Given the description of an element on the screen output the (x, y) to click on. 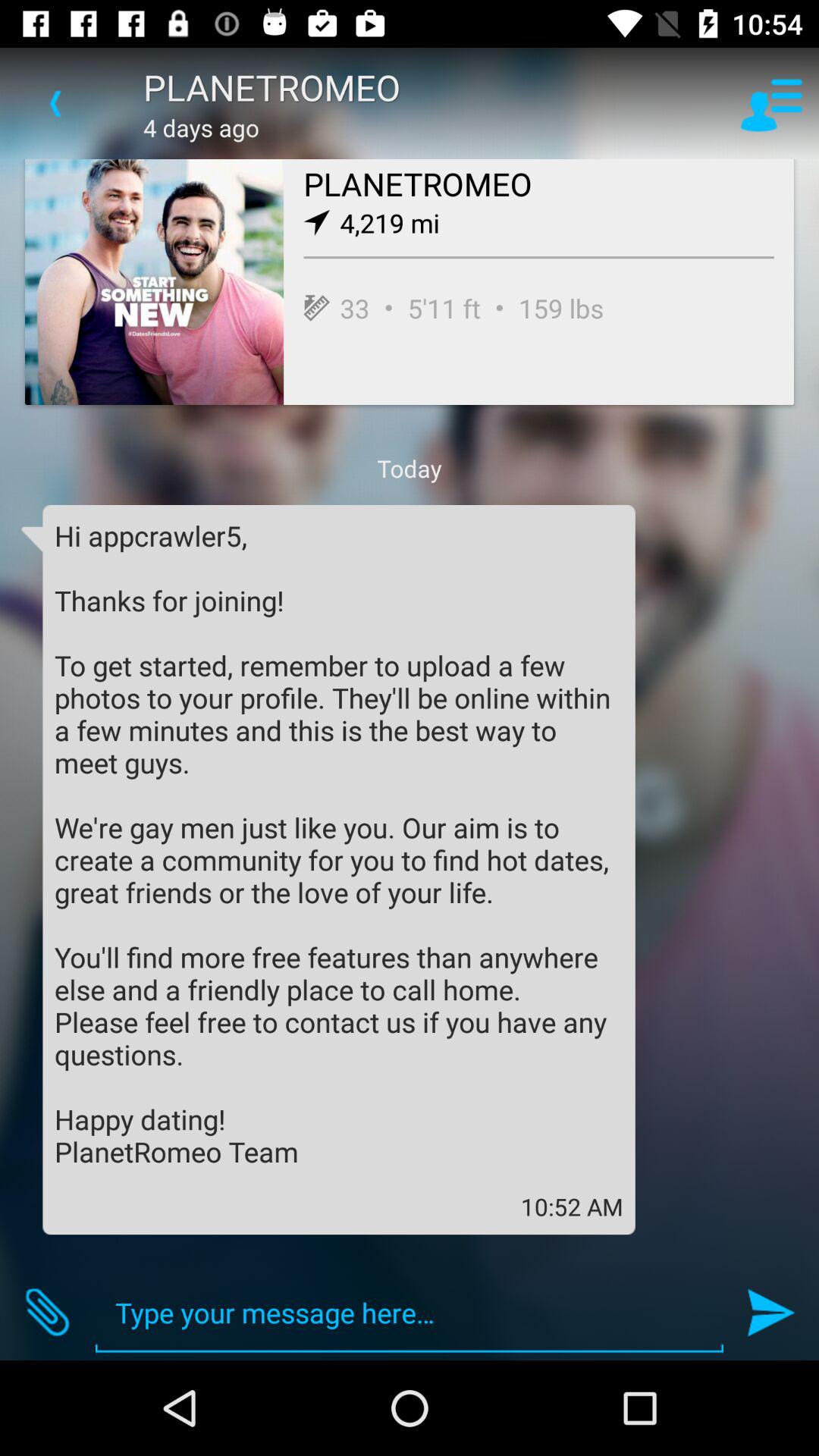
turn off the item to the left of the planetromeo icon (55, 103)
